Given the description of an element on the screen output the (x, y) to click on. 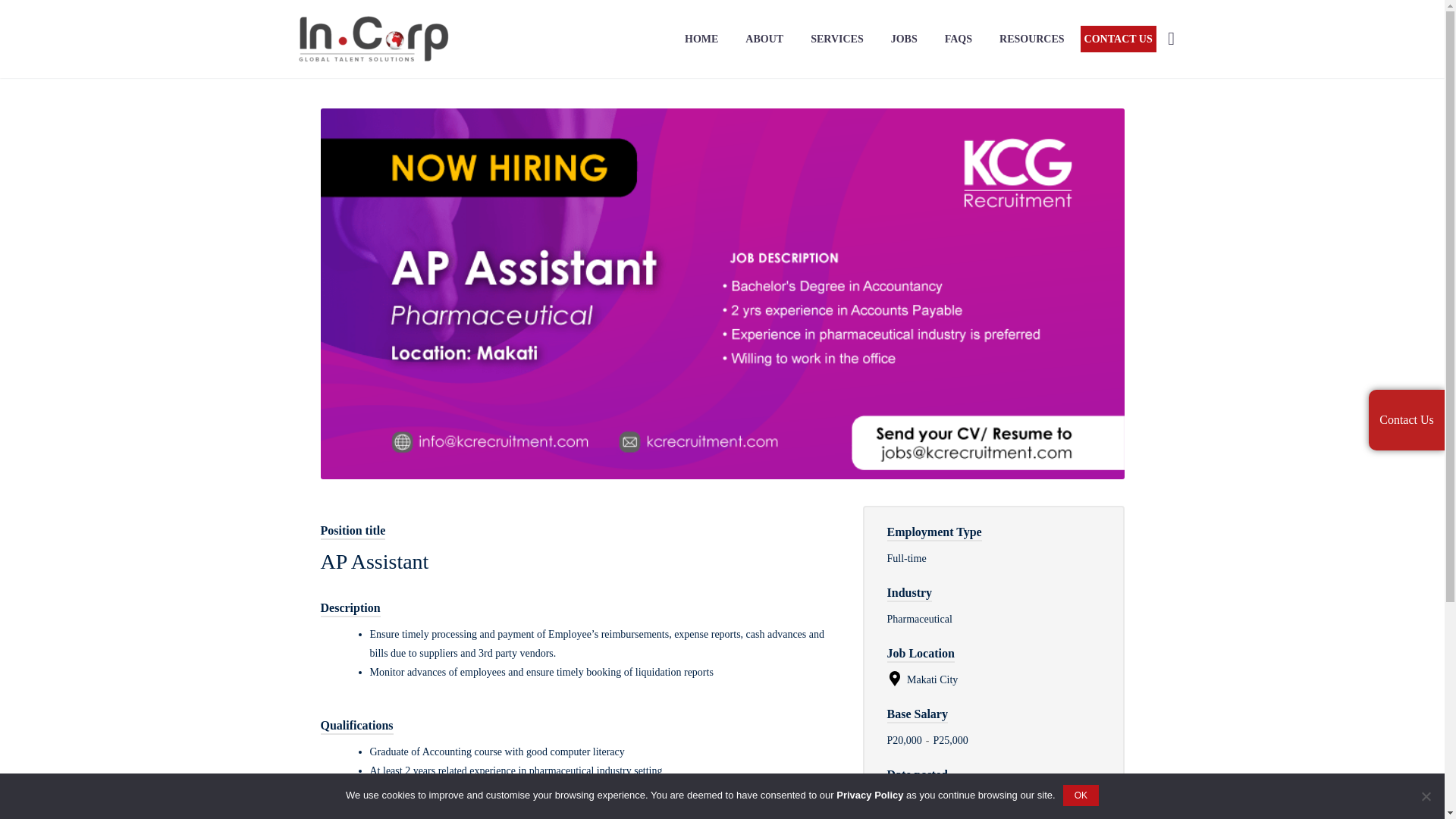
CONTACT US (1118, 38)
RESOURCES (1031, 38)
No (1425, 795)
Privacy Policy (868, 794)
HOME (700, 38)
FAQS (958, 38)
JOBS (903, 38)
FAQs (958, 38)
OK (1080, 794)
s (1323, 119)
ABOUT (763, 38)
SERVICES (837, 38)
